Given the description of an element on the screen output the (x, y) to click on. 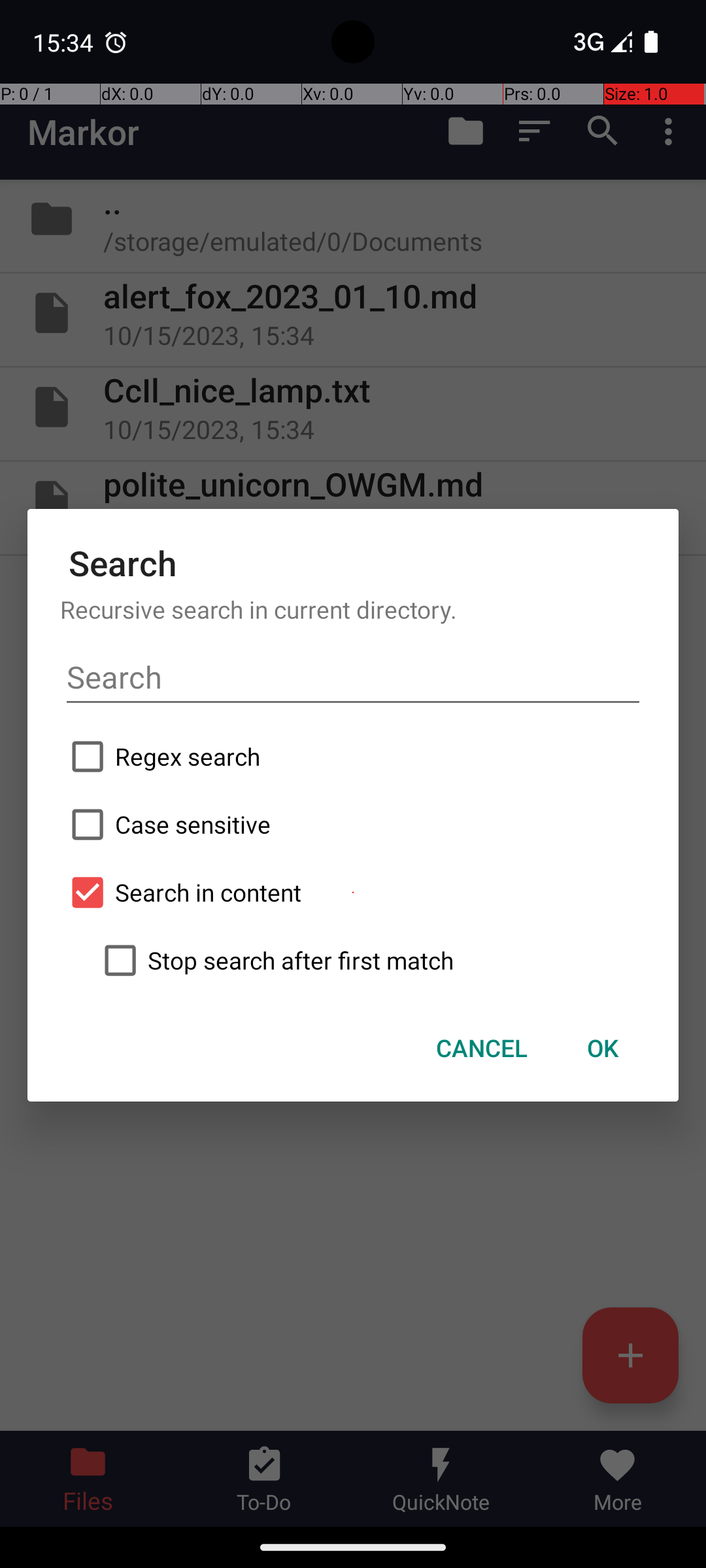
Stop search after first match Element type: android.widget.CheckBox (368, 959)
